Given the description of an element on the screen output the (x, y) to click on. 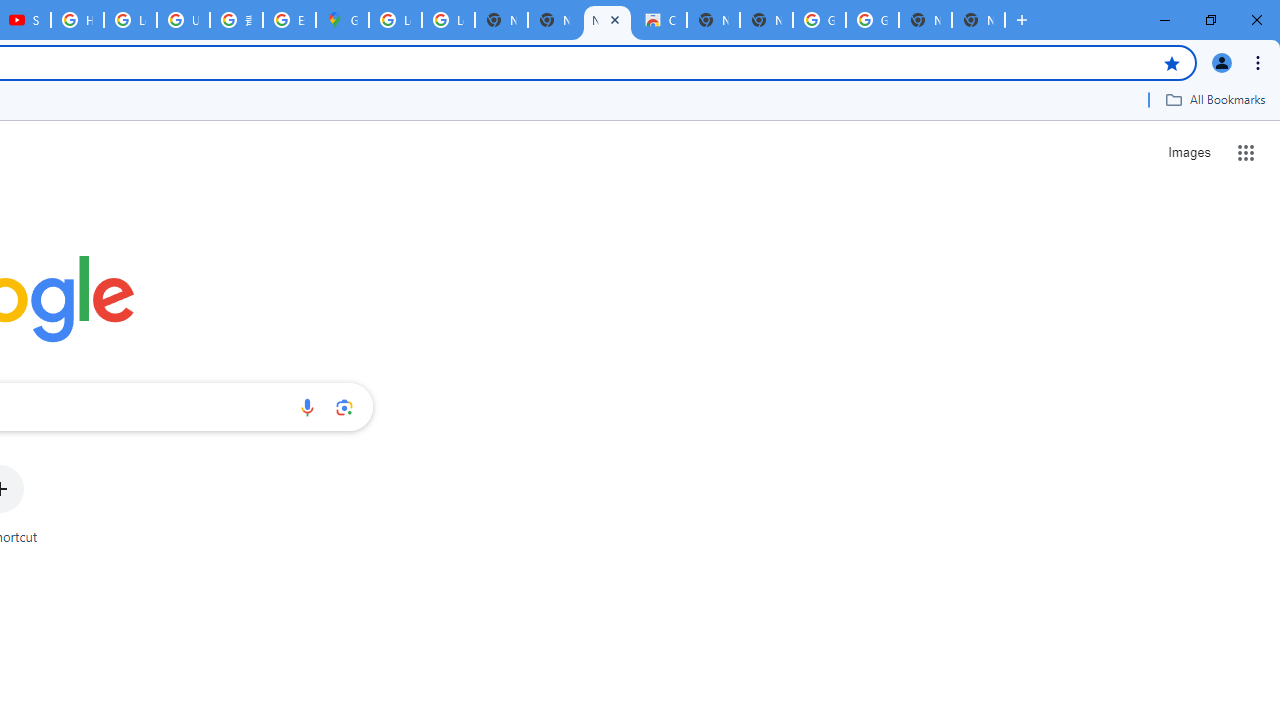
Google Images (819, 20)
Search by voice (307, 407)
How Chrome protects your passwords - Google Chrome Help (77, 20)
Google Images (872, 20)
Explore new street-level details - Google Maps Help (289, 20)
Search by image (344, 407)
New Tab (978, 20)
Search for Images  (1188, 152)
Chrome Web Store (660, 20)
